Given the description of an element on the screen output the (x, y) to click on. 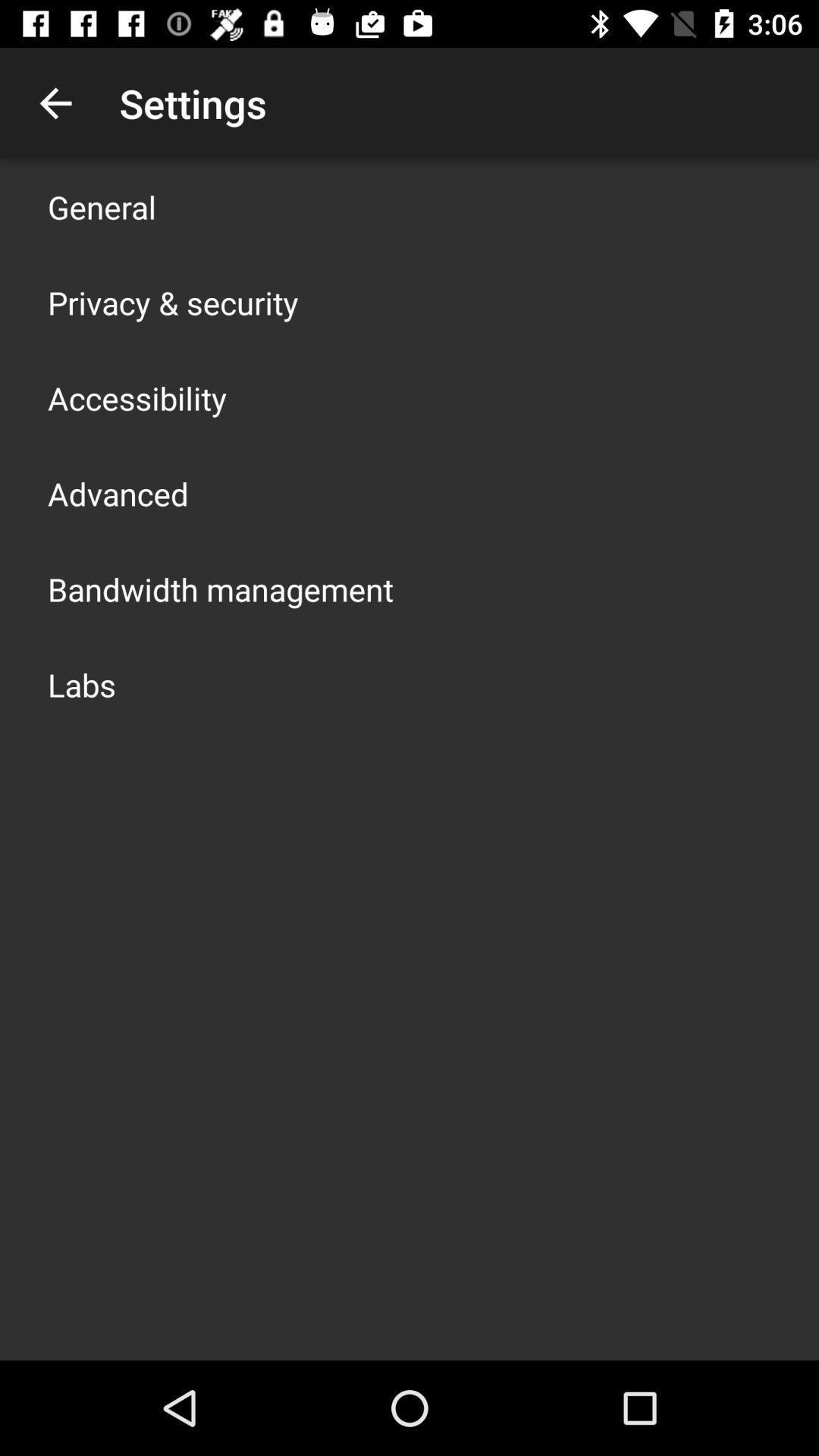
turn on the icon next to the settings icon (55, 103)
